Given the description of an element on the screen output the (x, y) to click on. 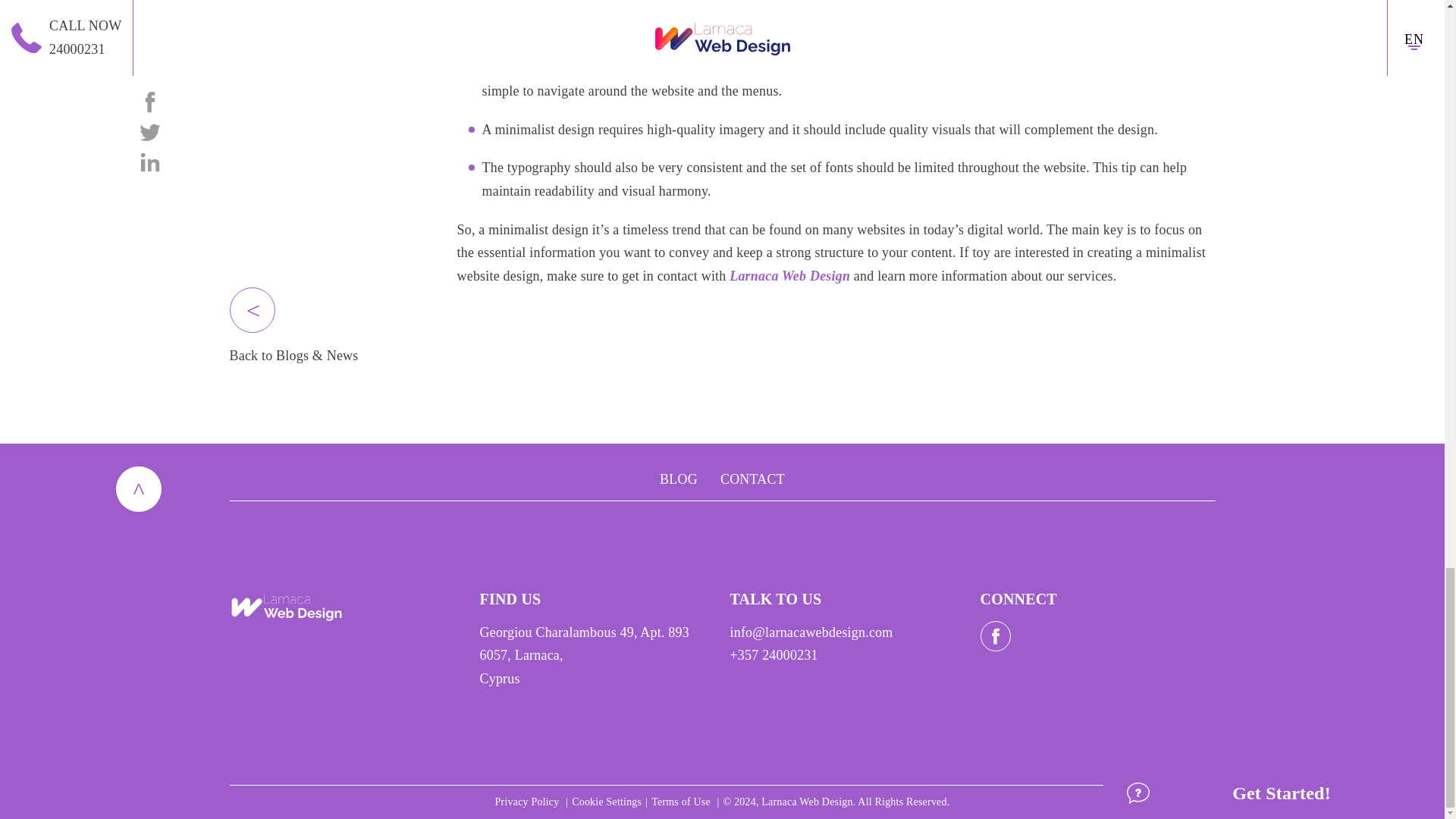
BLOG (678, 478)
Scroll top (137, 488)
Privacy Policy (528, 801)
Terms of Use (681, 801)
CONTACT (752, 478)
Larnaca Web Design (789, 275)
Cookie Settings (607, 801)
